Given the description of an element on the screen output the (x, y) to click on. 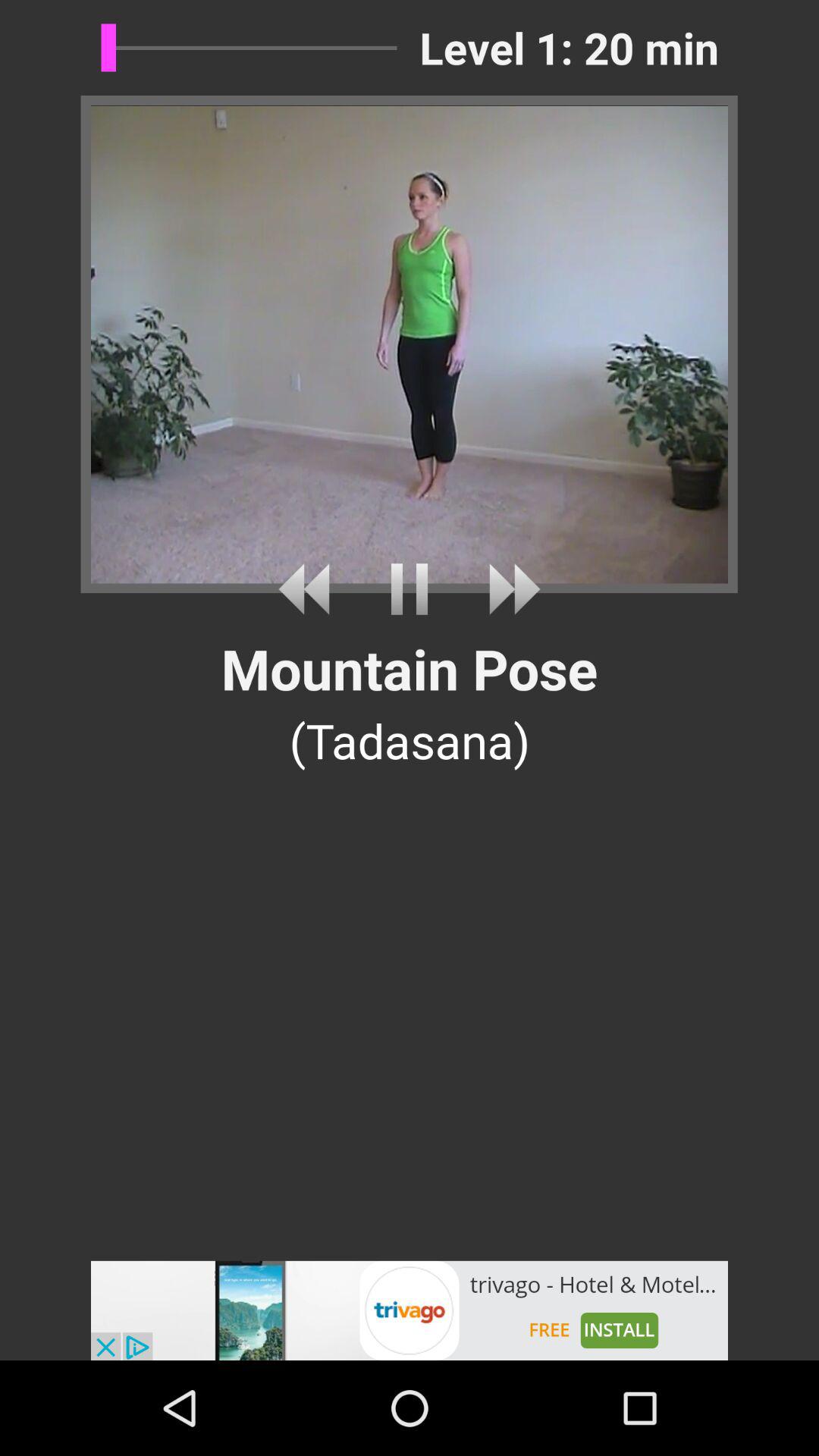
switch to stop option (409, 589)
